Given the description of an element on the screen output the (x, y) to click on. 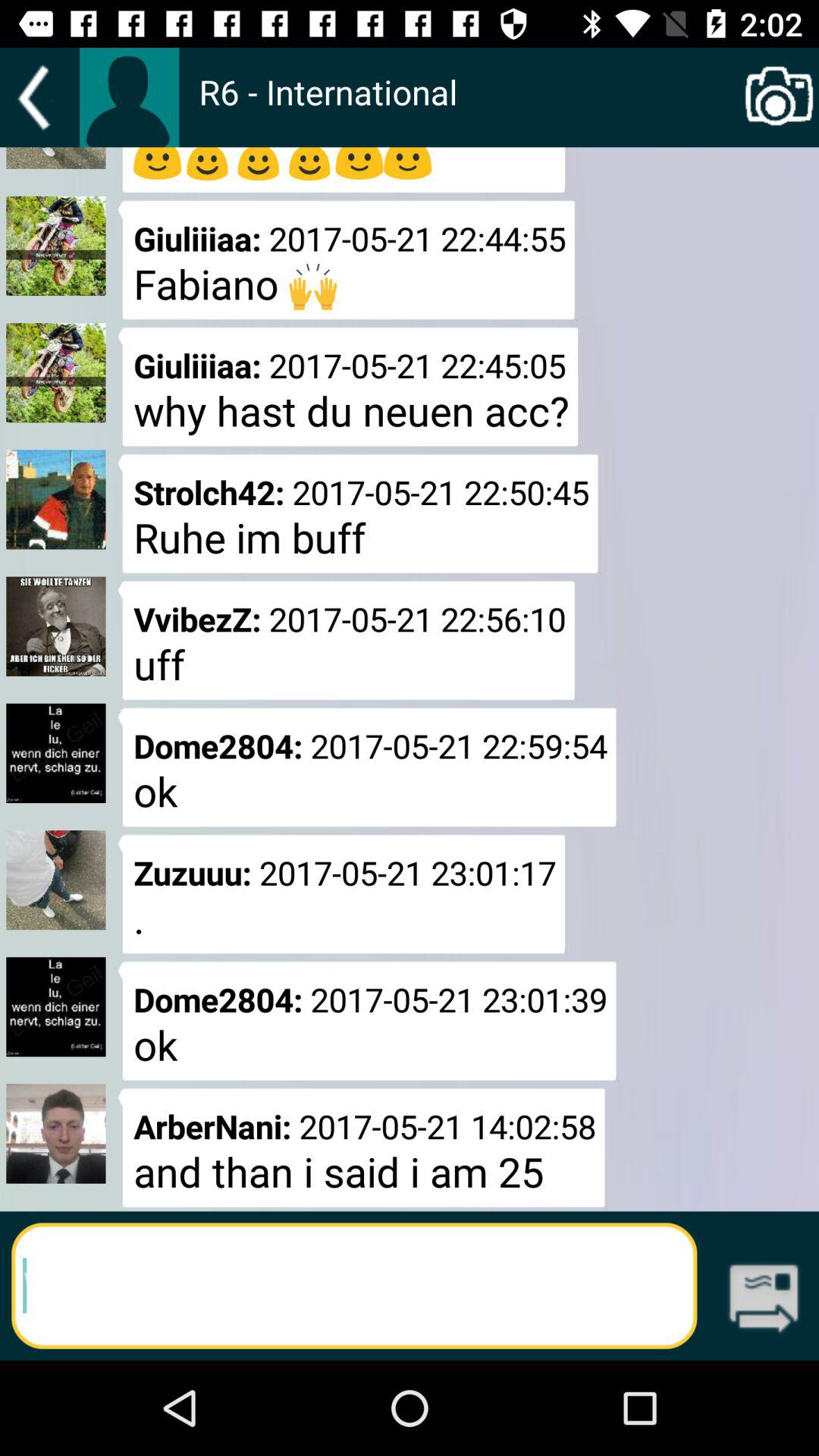
go next (763, 1300)
